Given the description of an element on the screen output the (x, y) to click on. 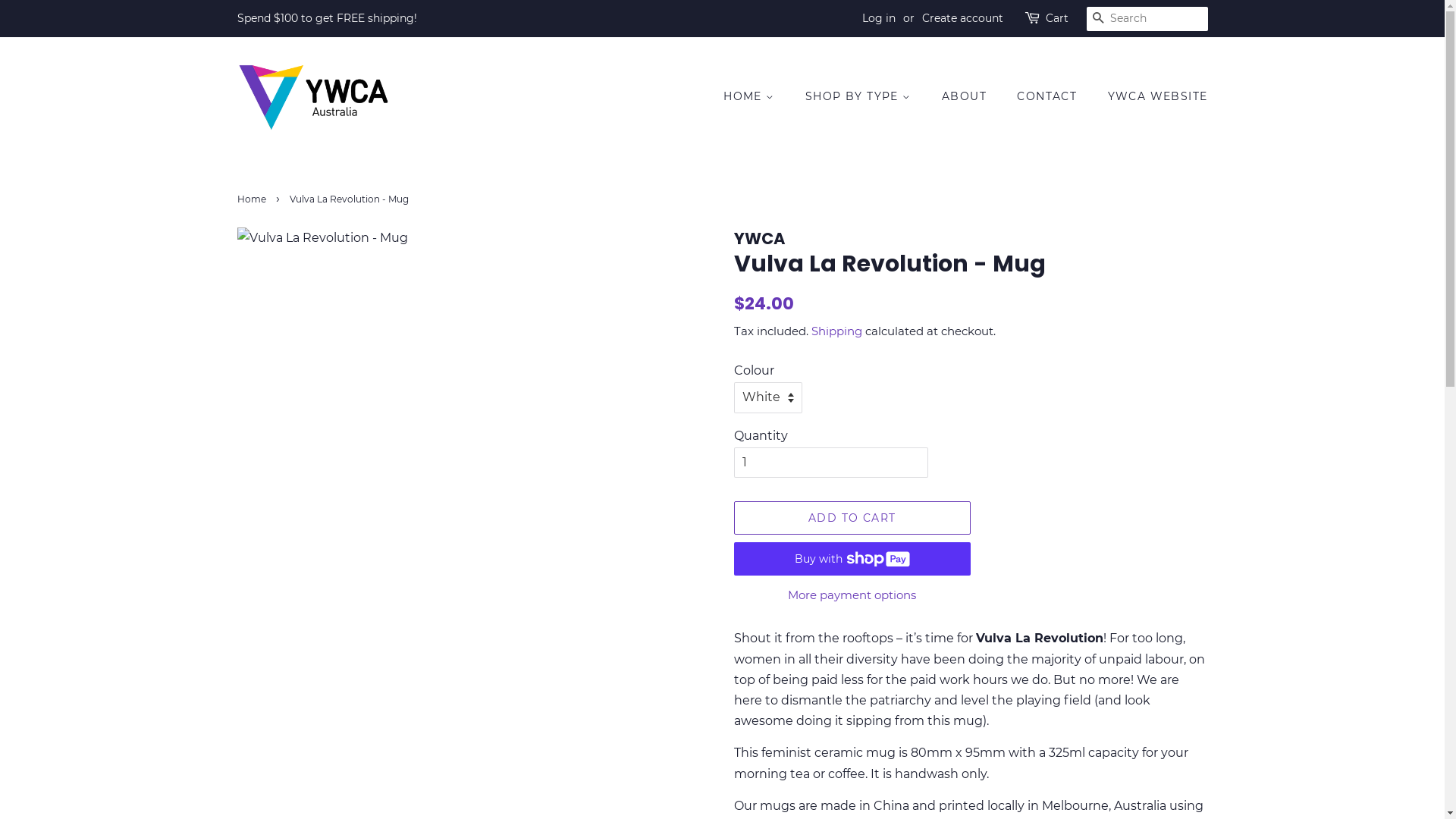
Home Element type: text (252, 198)
Cart Element type: text (1055, 18)
Create account Element type: text (962, 18)
CONTACT Element type: text (1048, 96)
Log in Element type: text (877, 18)
HOME Element type: text (756, 96)
YWCA WEBSITE Element type: text (1152, 96)
ADD TO CART Element type: text (852, 517)
More payment options Element type: text (852, 594)
Shipping Element type: text (836, 330)
SHOP BY TYPE Element type: text (859, 96)
ABOUT Element type: text (965, 96)
SEARCH Element type: text (1097, 18)
